Given the description of an element on the screen output the (x, y) to click on. 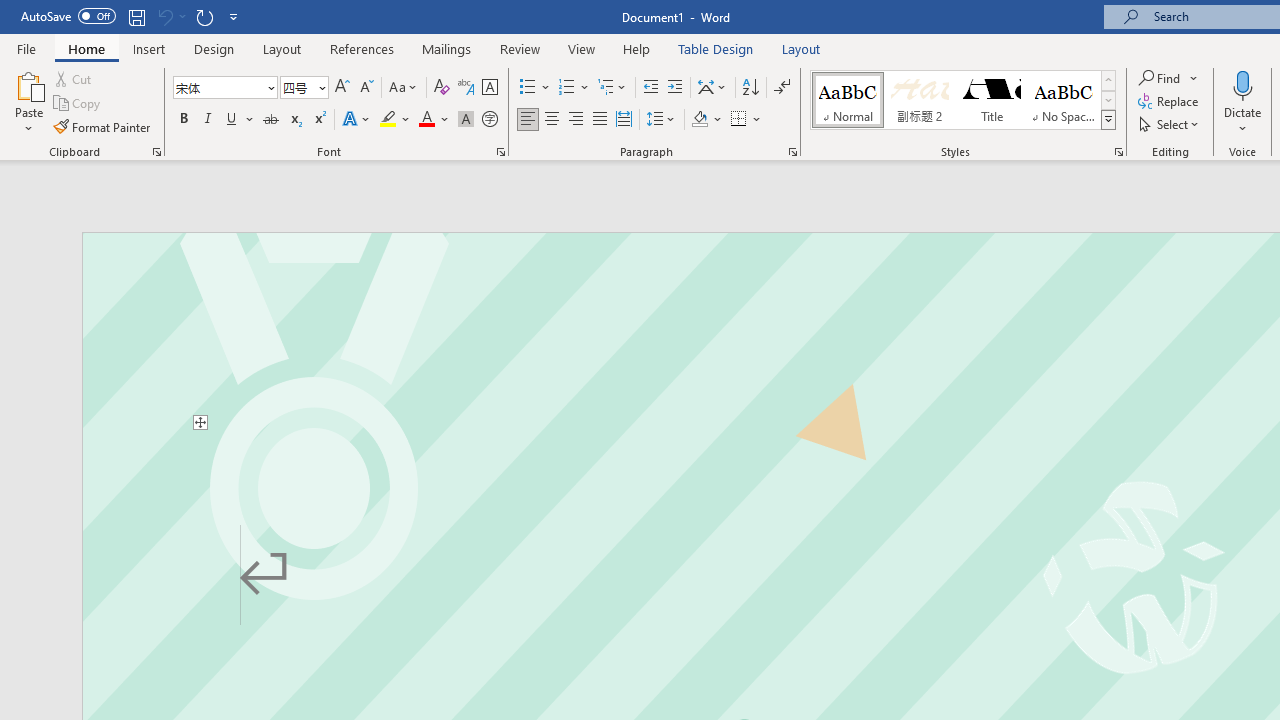
Select (1170, 124)
Increase Indent (675, 87)
Replace... (1169, 101)
